Given the description of an element on the screen output the (x, y) to click on. 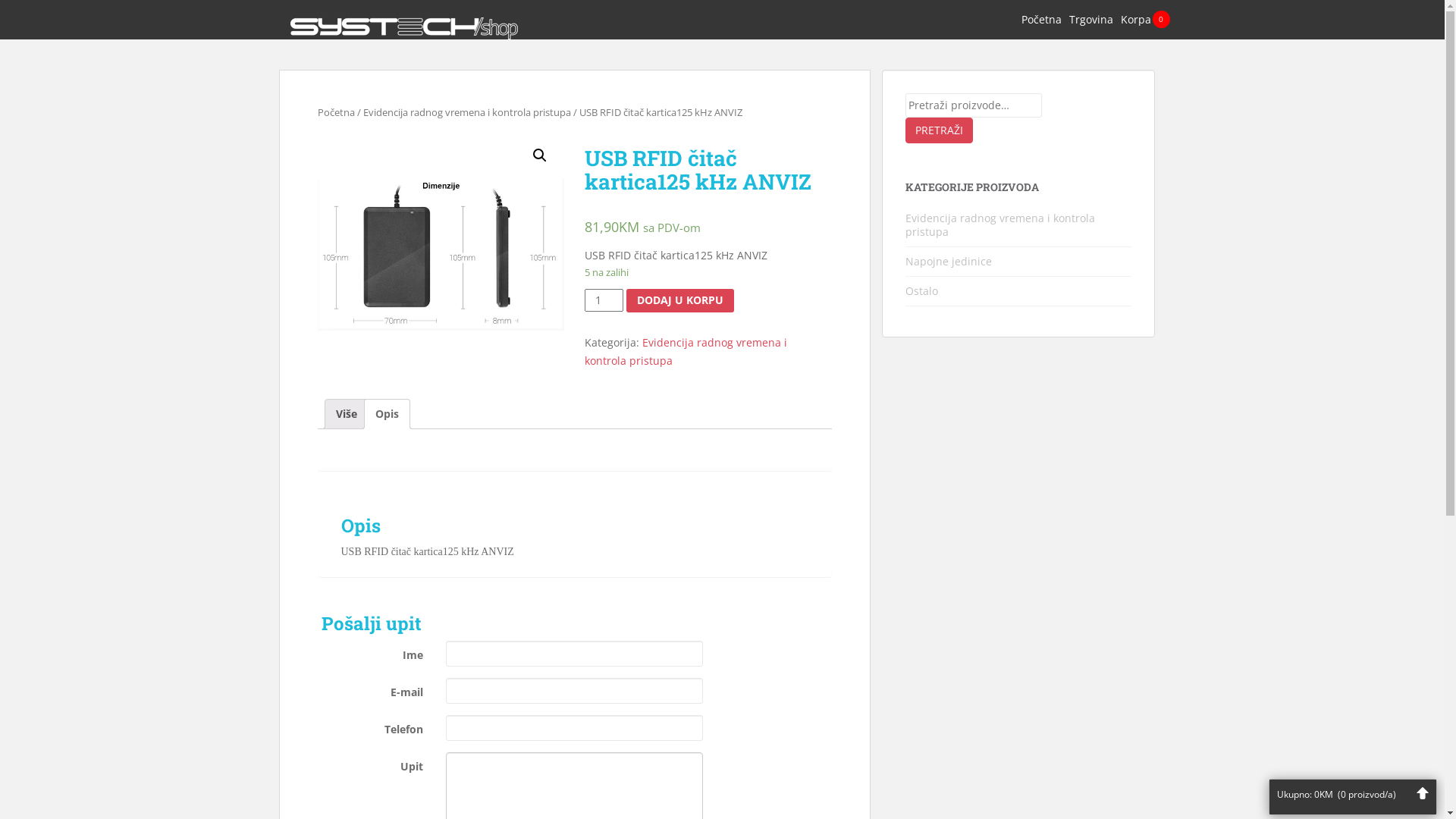
Ukupno: 0KM  (0 proizvod/a) Element type: text (1352, 792)
Opis Element type: text (386, 413)
Evidencija radnog vremena i kontrola pristupa Element type: text (1000, 224)
Evidencija radnog vremena i kontrola pristupa Element type: text (466, 112)
Evidencija radnog vremena i kontrola pristupa Element type: text (685, 351)
Untitled-1 Element type: hover (439, 254)
DODAJ U KORPU Element type: text (680, 300)
Napojne jedinice Element type: text (948, 261)
Korpa Element type: text (1135, 19)
Trgovina Element type: text (1091, 19)
Ostalo Element type: text (921, 290)
